Given the description of an element on the screen output the (x, y) to click on. 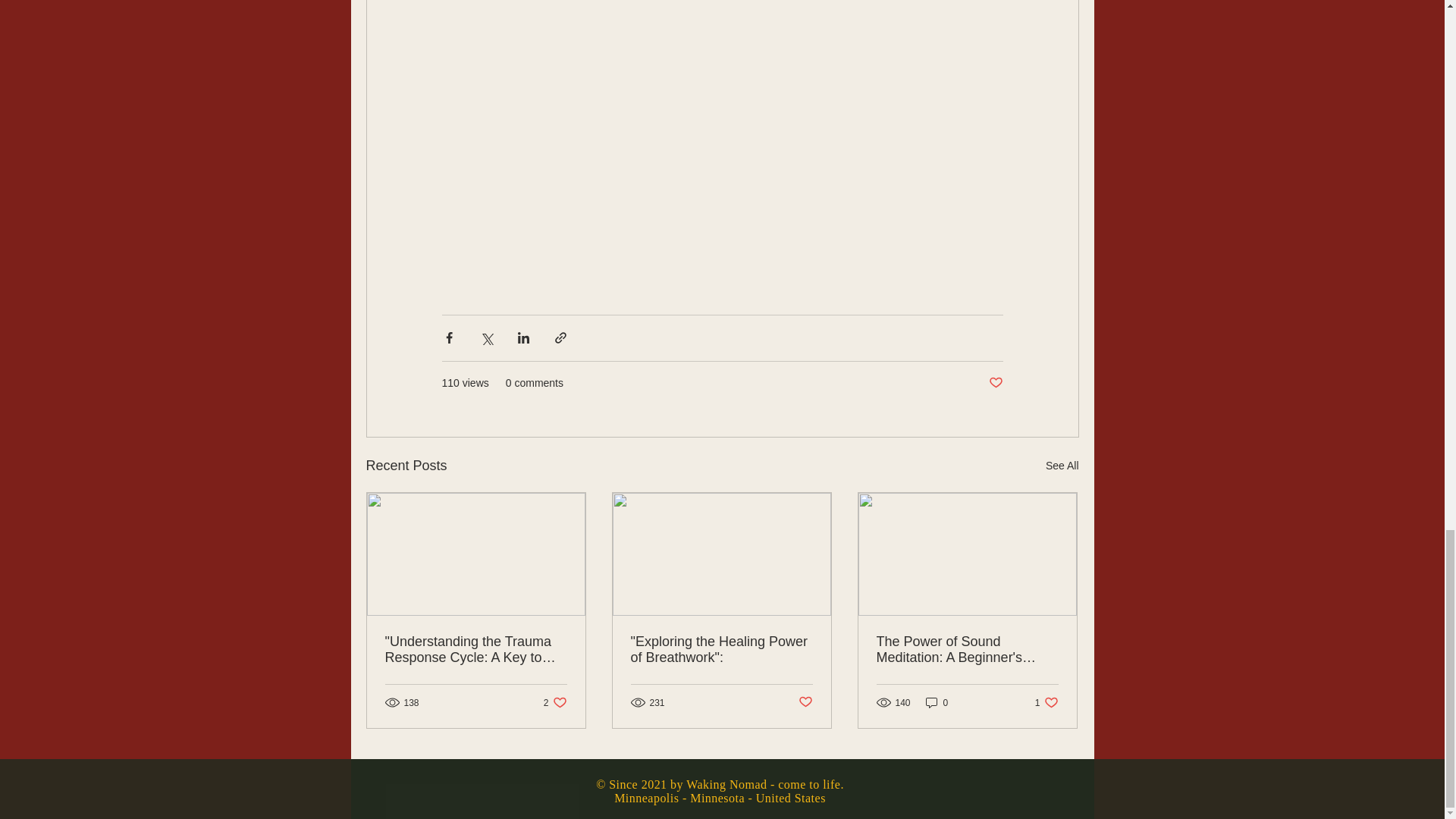
Post not marked as liked (555, 702)
Post not marked as liked (804, 702)
"Exploring the Healing Power of Breathwork": (995, 383)
See All (721, 649)
0 (1061, 465)
The Power of Sound Meditation: A Beginner's Guide (1046, 702)
